Given the description of an element on the screen output the (x, y) to click on. 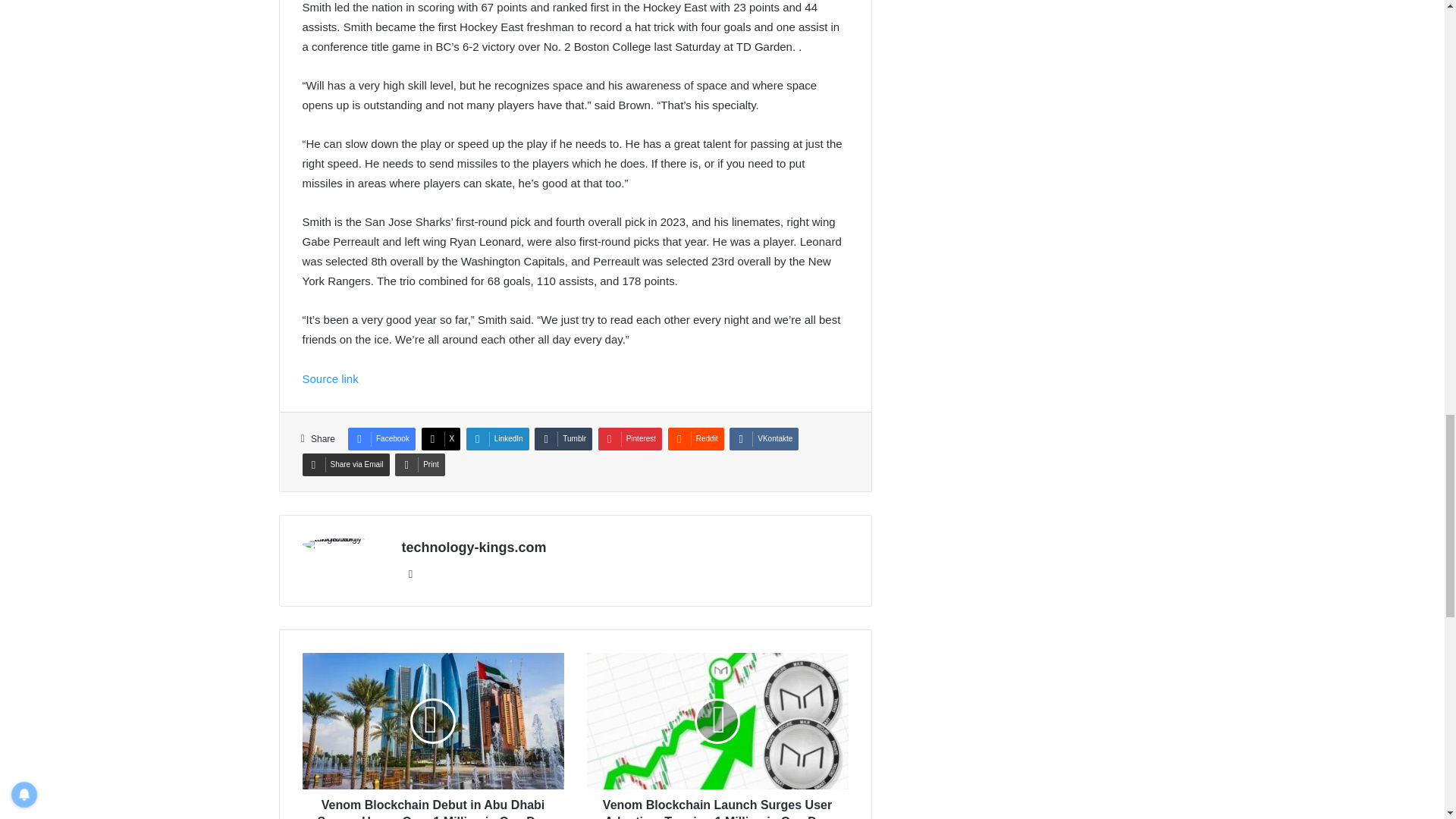
Pinterest (630, 438)
X (441, 438)
LinkedIn (497, 438)
Share via Email (344, 464)
Facebook (380, 438)
Source link (329, 378)
VKontakte (763, 438)
Print (419, 464)
Tumblr (563, 438)
Reddit (695, 438)
